Given the description of an element on the screen output the (x, y) to click on. 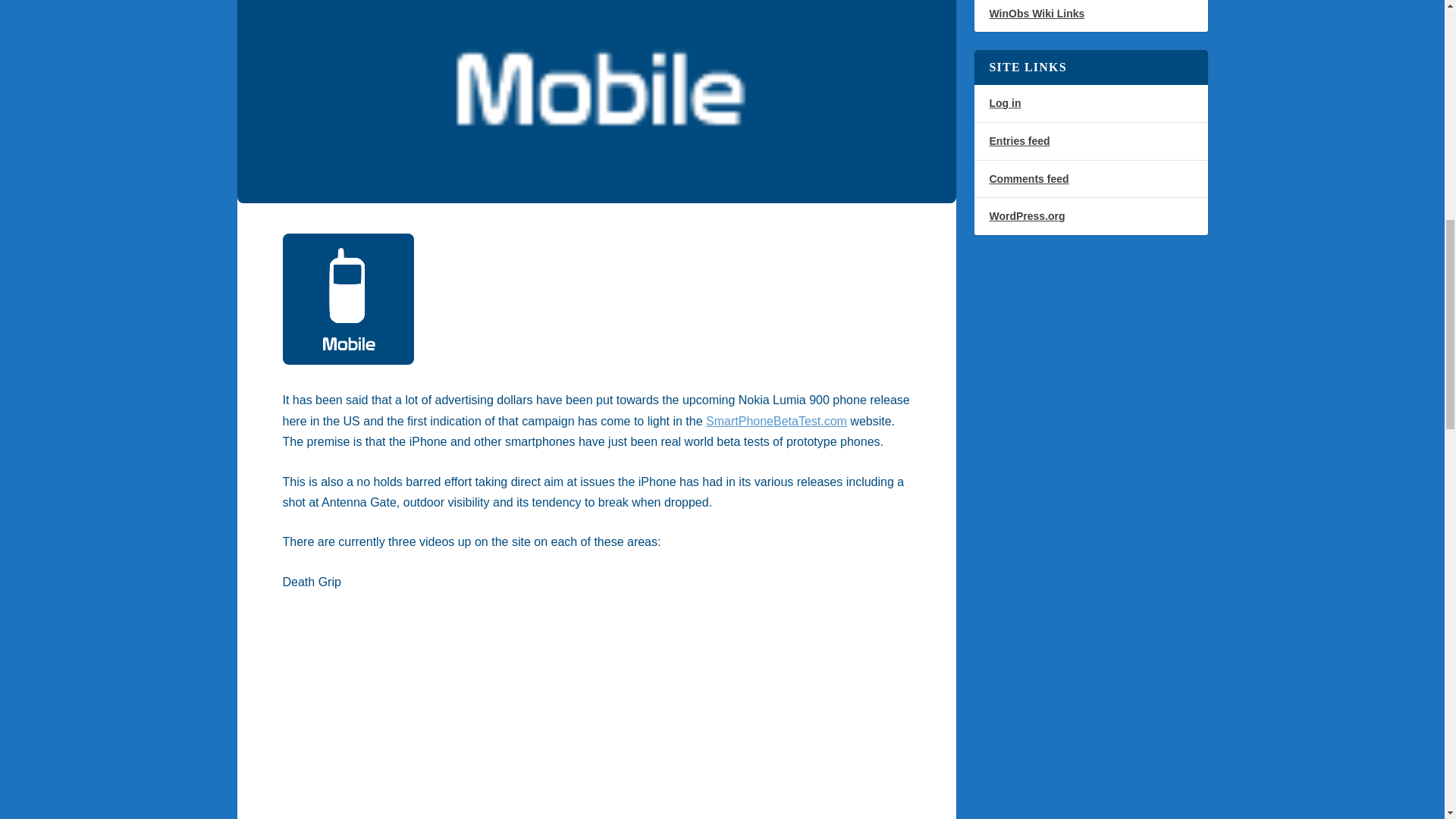
SmartPhoneBetaTest.com (776, 420)
mobilelogo (347, 298)
